Given the description of an element on the screen output the (x, y) to click on. 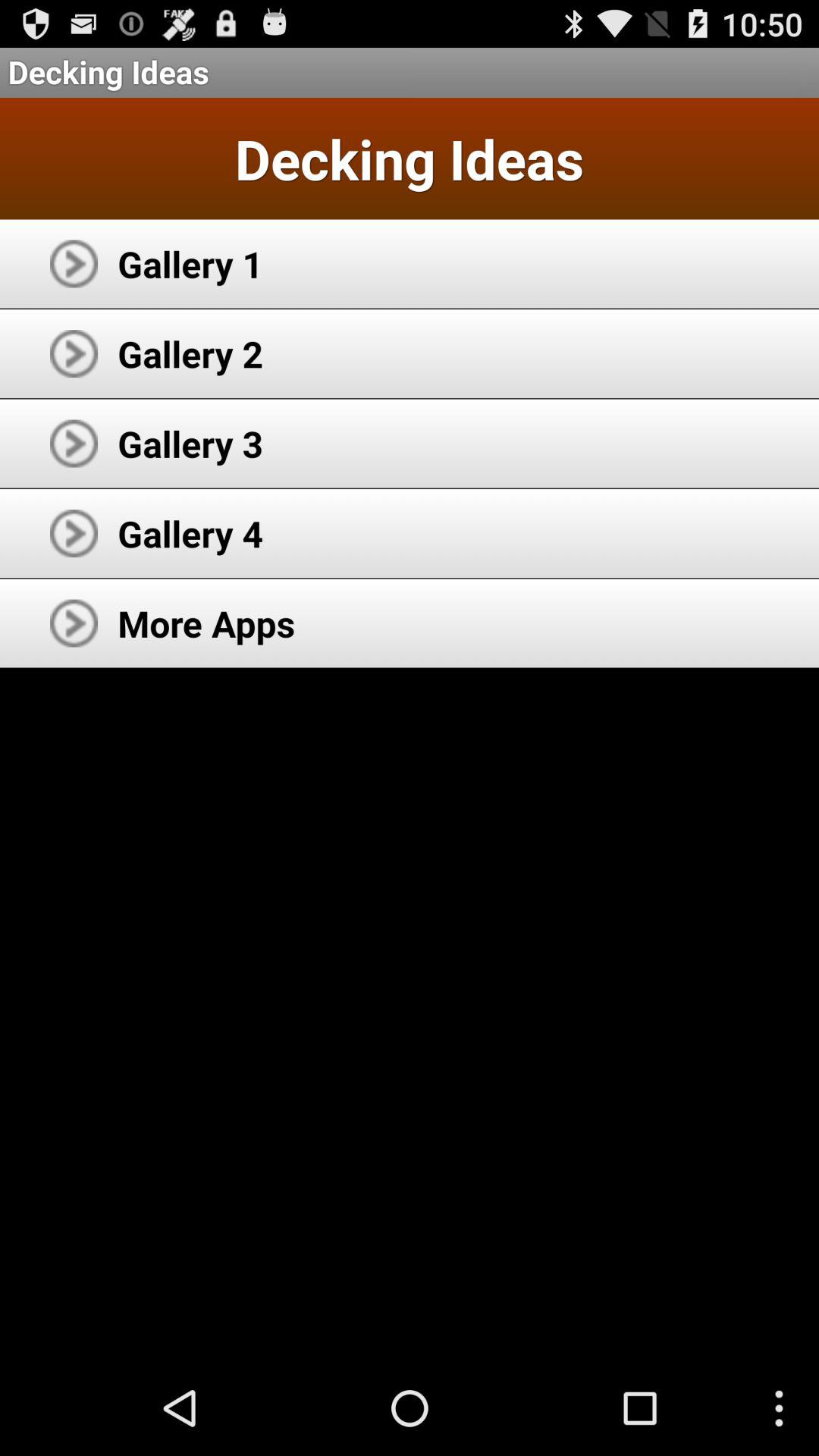
flip until more apps icon (206, 622)
